Given the description of an element on the screen output the (x, y) to click on. 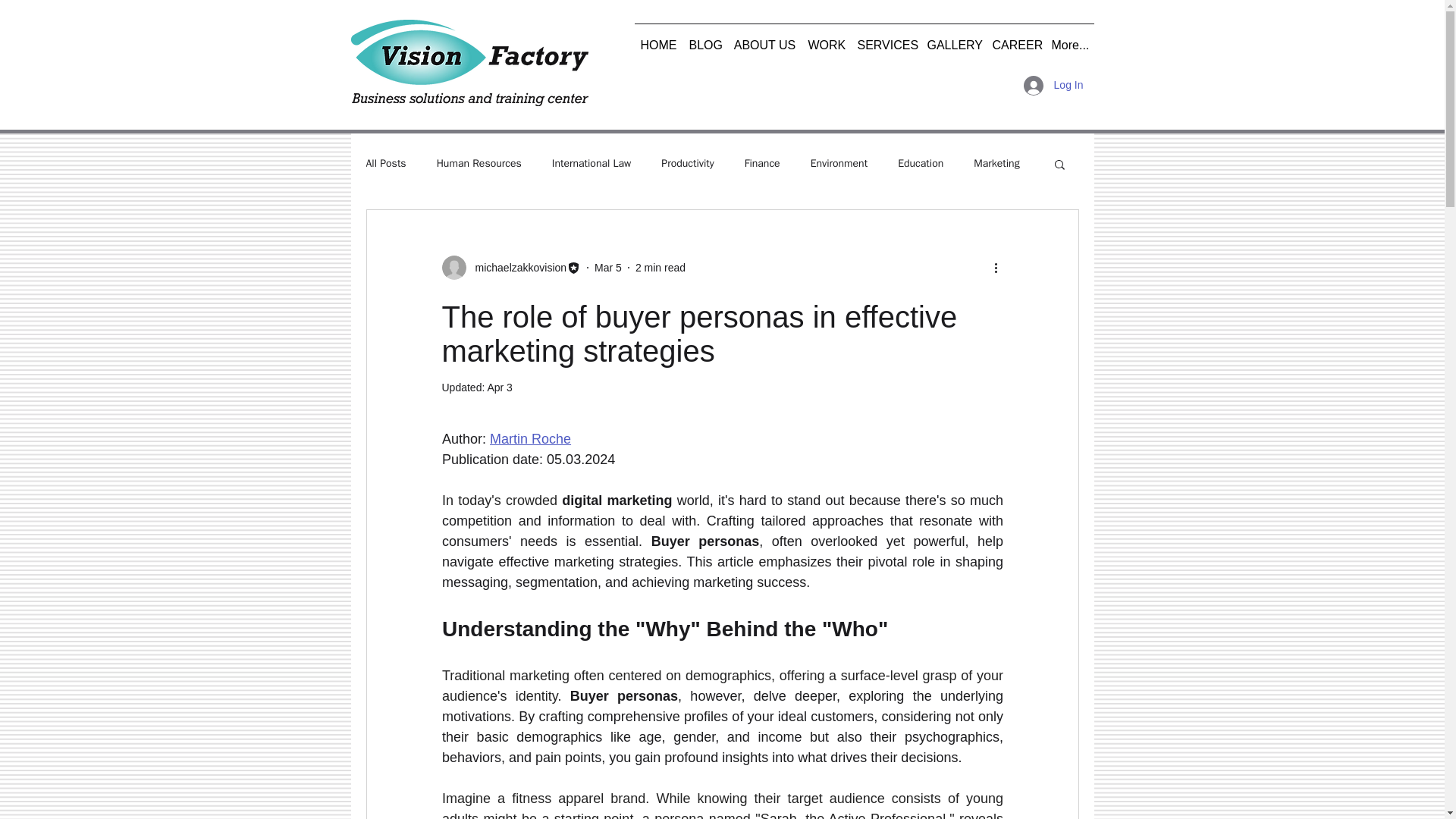
2 min read (659, 266)
ABOUT US (765, 38)
GALLERY (952, 38)
Mar 5 (607, 266)
CAREER (1015, 38)
SERVICES (885, 38)
Apr 3 (499, 387)
HOME (657, 38)
BLOG (704, 38)
WORK (826, 38)
michaelzakkovision (515, 267)
